Given the description of an element on the screen output the (x, y) to click on. 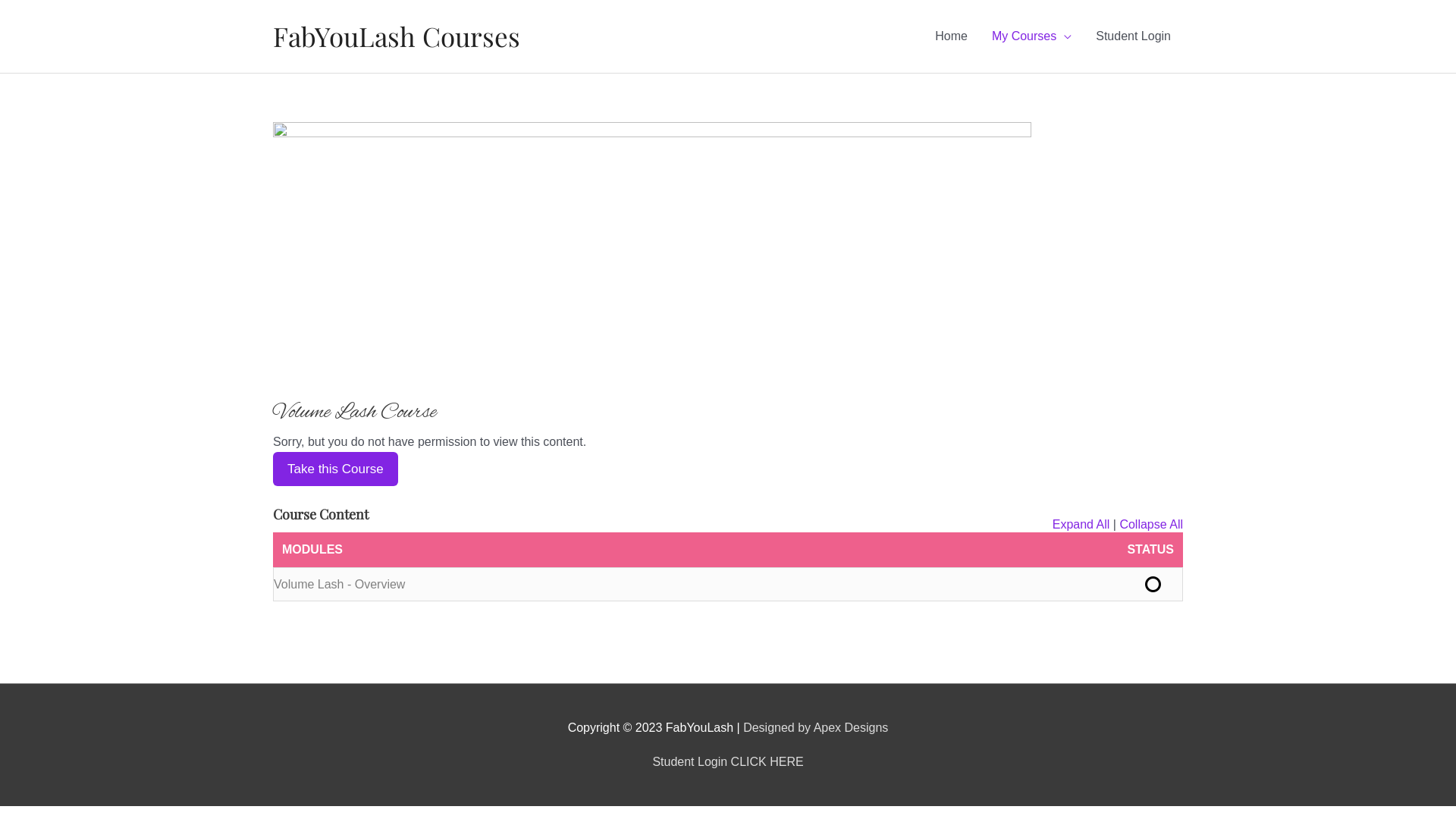
Collapse All Element type: text (1151, 523)
Expand All Element type: text (1081, 523)
My Courses Element type: text (1031, 36)
FabYouLash Courses Element type: text (396, 35)
Student Login CLICK HERE Element type: text (727, 761)
Designed by Apex Designs Element type: text (815, 727)
Student Login Element type: text (1133, 36)
Home Element type: text (950, 36)
Take this Course Element type: text (335, 468)
Volume Lash - Overview Element type: text (727, 583)
